Given the description of an element on the screen output the (x, y) to click on. 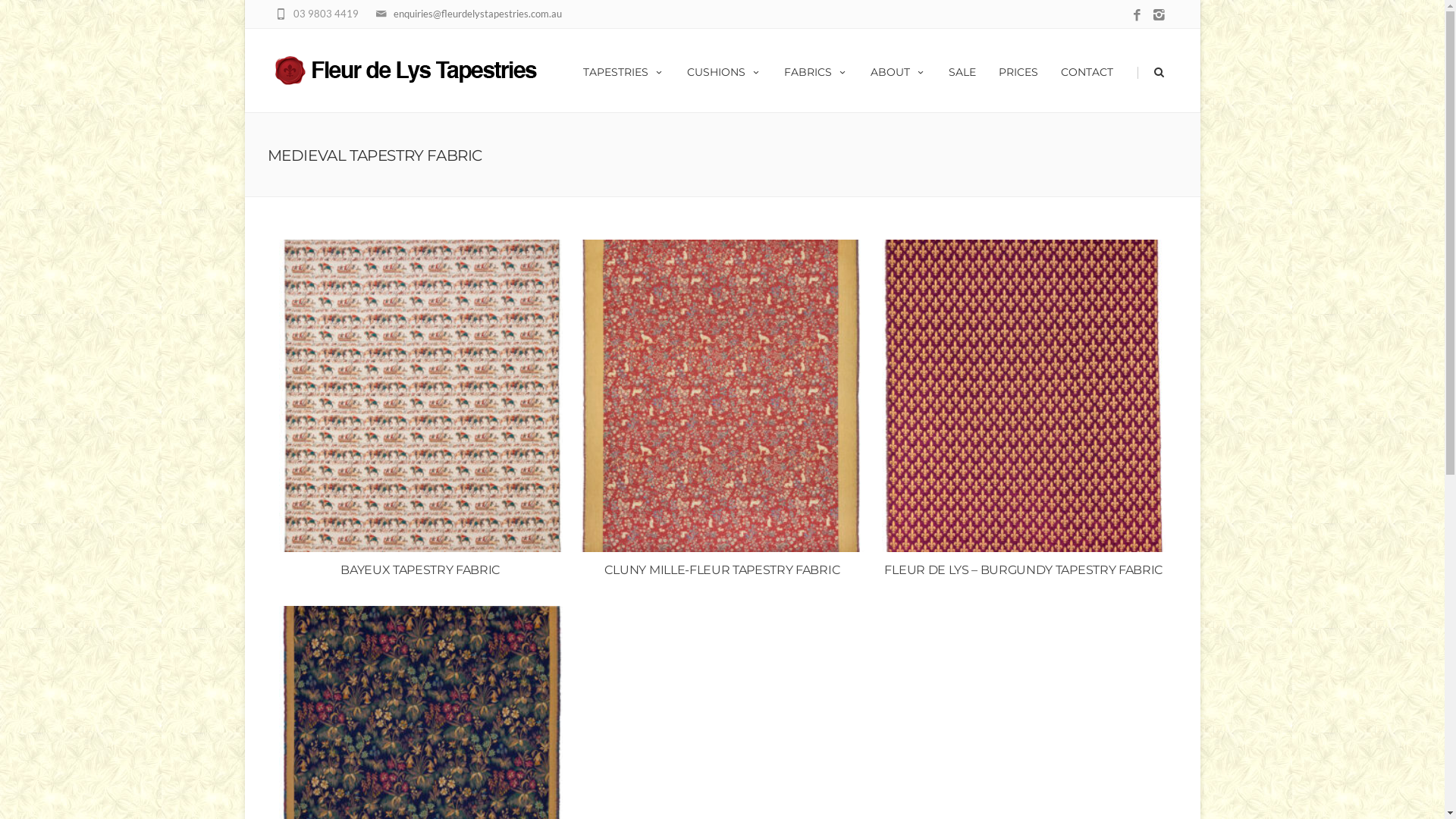
TAPESTRIES Element type: text (623, 70)
enquiries@fleurdelystapestries.com.au Element type: text (476, 13)
SALE Element type: text (962, 70)
Facebook Element type: hover (1136, 15)
FABRICS Element type: text (814, 70)
ABOUT Element type: text (897, 70)
CONTACT Element type: text (1086, 70)
Instagram Element type: hover (1159, 15)
CUSHIONS Element type: text (722, 70)
| Element type: text (1132, 70)
PRICES Element type: text (1018, 70)
BAYEUX TAPESTRY FABRIC Element type: text (420, 411)
CLUNY MILLE-FLEUR TAPESTRY FABRIC Element type: text (721, 411)
